Given the description of an element on the screen output the (x, y) to click on. 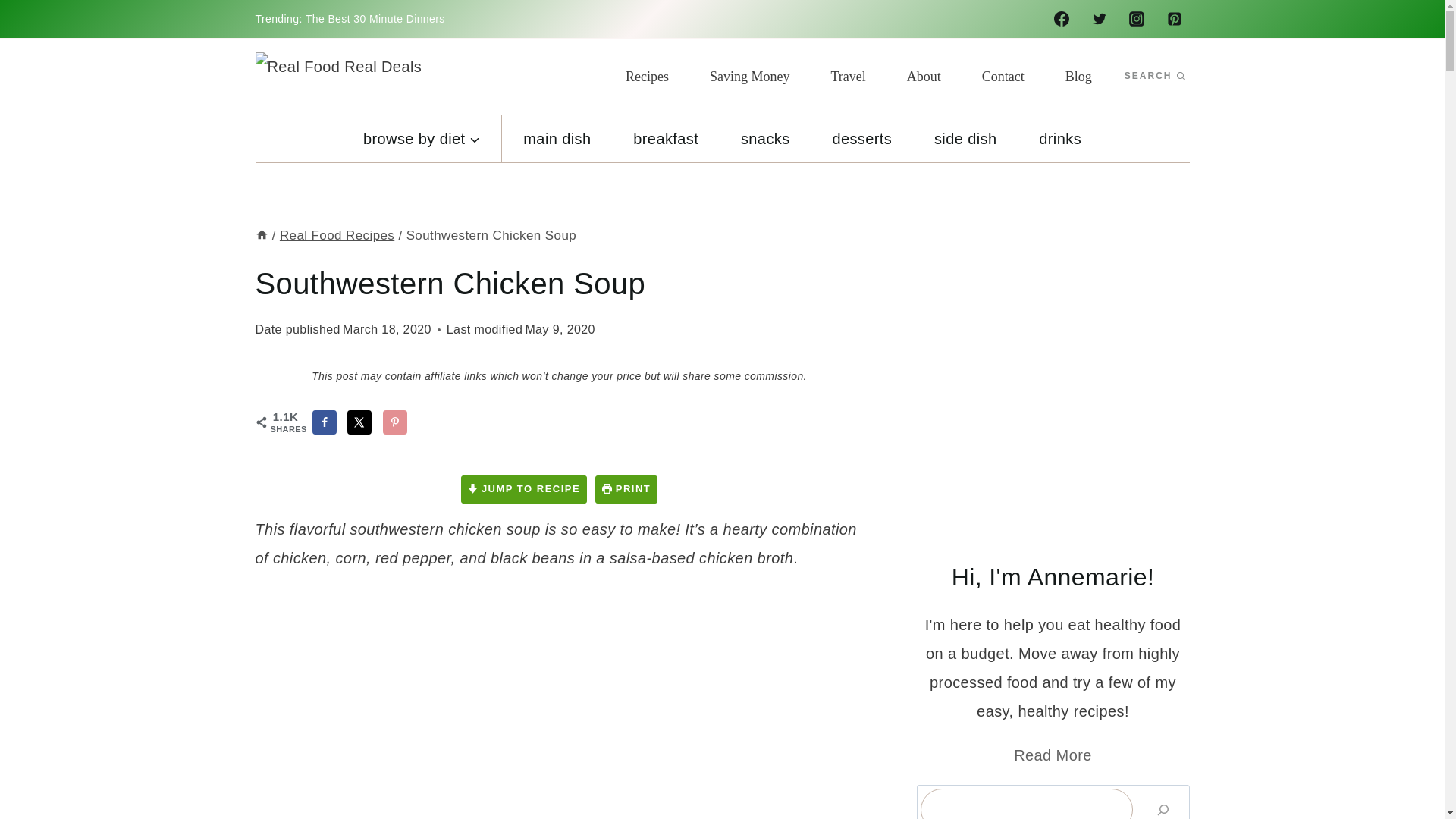
Contact (1002, 76)
Travel (847, 76)
Saving Money (749, 76)
Home (260, 235)
JUMP TO RECIPE (523, 489)
Real Food Recipes (336, 235)
Share on X (359, 422)
Blog (1078, 76)
About (923, 76)
The Best 30 Minute Dinners (375, 19)
main dish (556, 138)
JUMP TO RECIPE (523, 489)
PRINT (626, 489)
desserts (861, 138)
SEARCH (1154, 75)
